Given the description of an element on the screen output the (x, y) to click on. 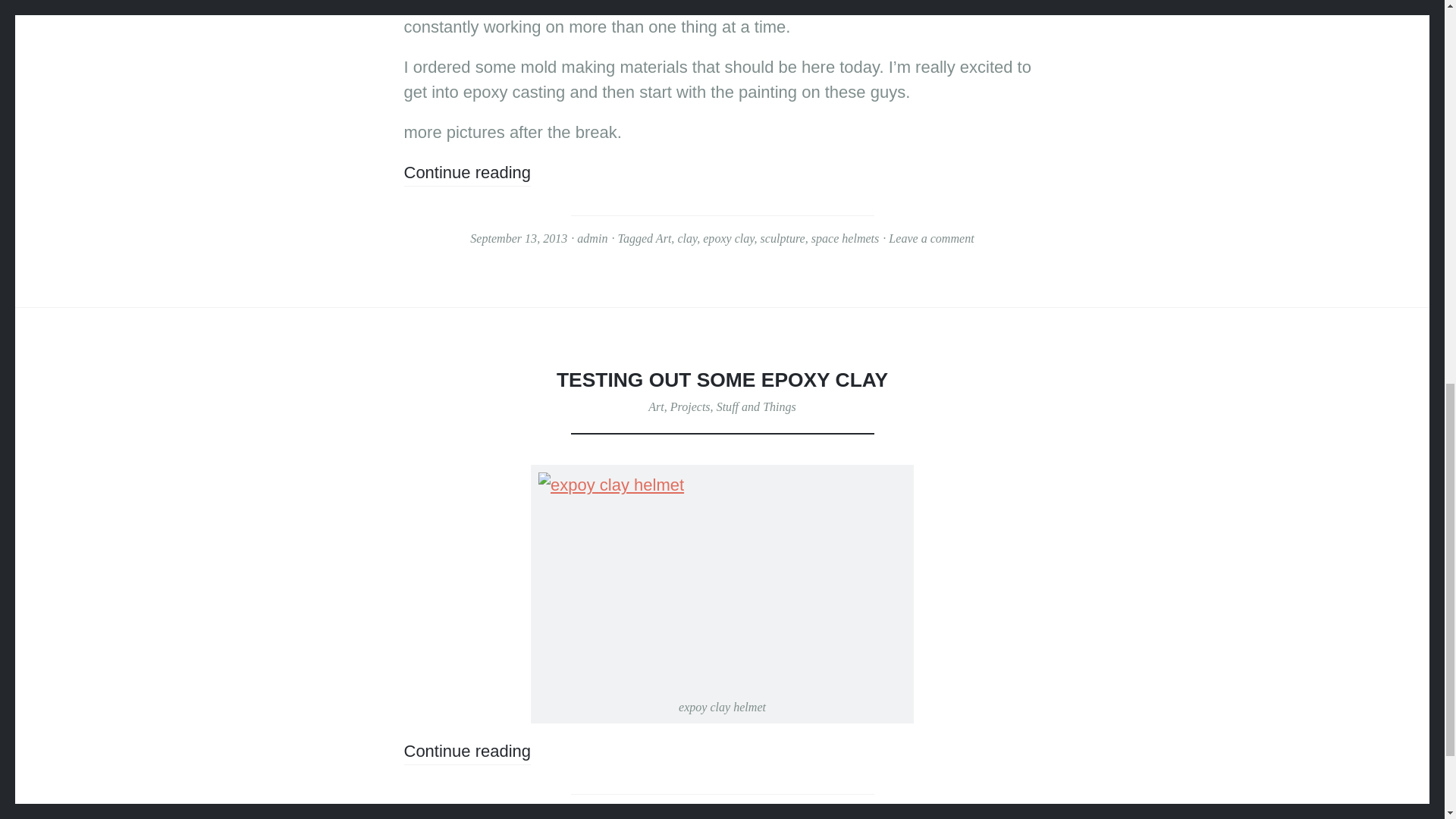
space helmets (812, 814)
September 13, 2013 (518, 237)
Art (663, 237)
space helmets (844, 237)
Art (655, 406)
Leave a comment (931, 237)
sculpture (782, 237)
TESTING OUT SOME EPOXY CLAY (722, 379)
clay (687, 237)
admin (607, 814)
sculpting (750, 814)
admin (591, 237)
Stuff and Things (756, 406)
Continue reading (467, 174)
August 23, 2013 (542, 814)
